Given the description of an element on the screen output the (x, y) to click on. 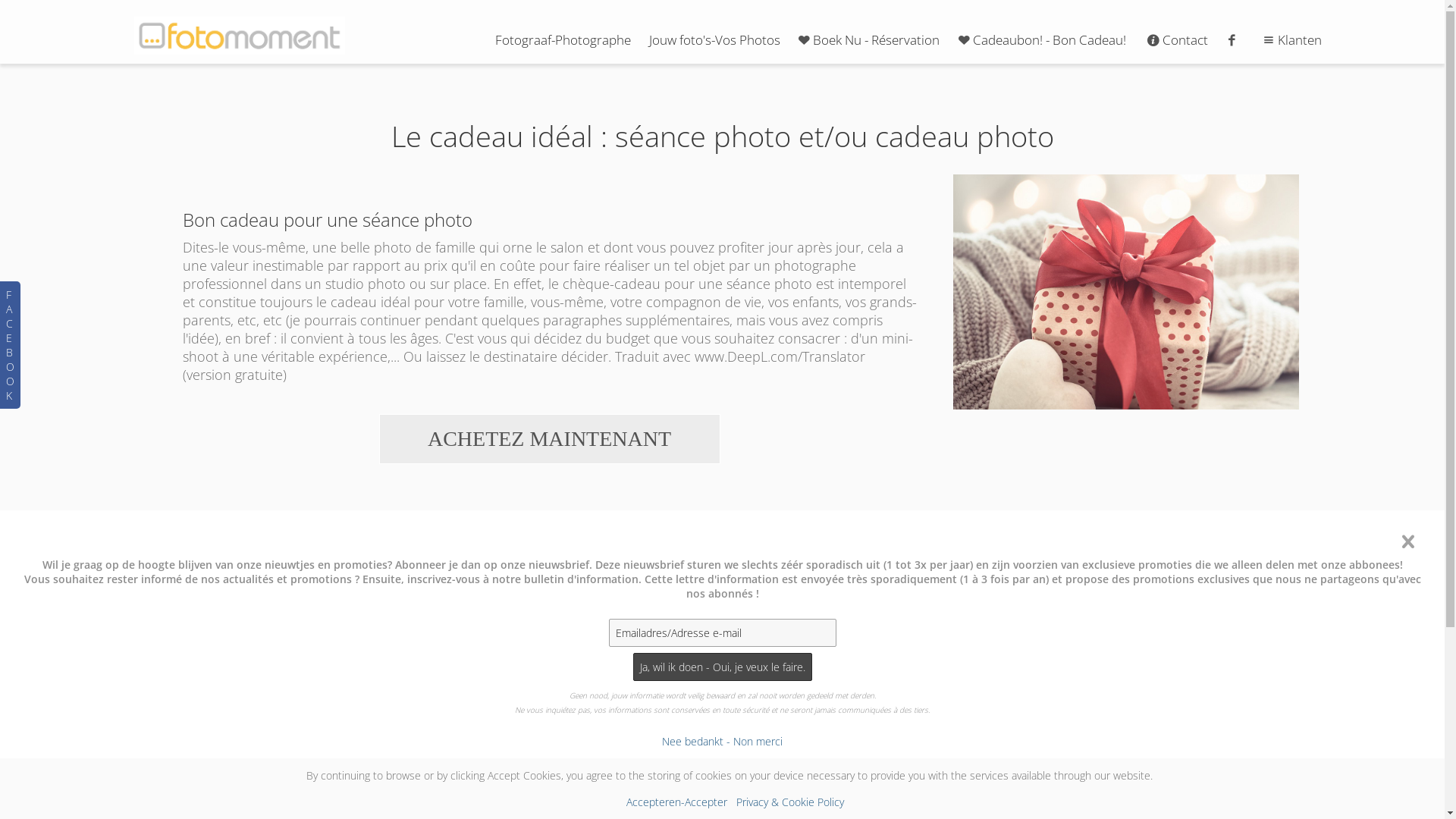
ACHETEZ MAINTENANT Element type: text (549, 439)
Accepteren-Accepter Element type: text (676, 801)
Contact Element type: text (1175, 39)
Klanten Element type: text (1290, 39)
Fotograaf-Photographe Element type: text (562, 39)
Jouw foto's-Vos Photos Element type: text (714, 39)
Cadeaubon! - Bon Cadeau! Element type: text (1040, 39)
ACHETER MAINTENANT Element type: text (895, 753)
Privacy & Cookie Policy Element type: text (790, 801)
